Given the description of an element on the screen output the (x, y) to click on. 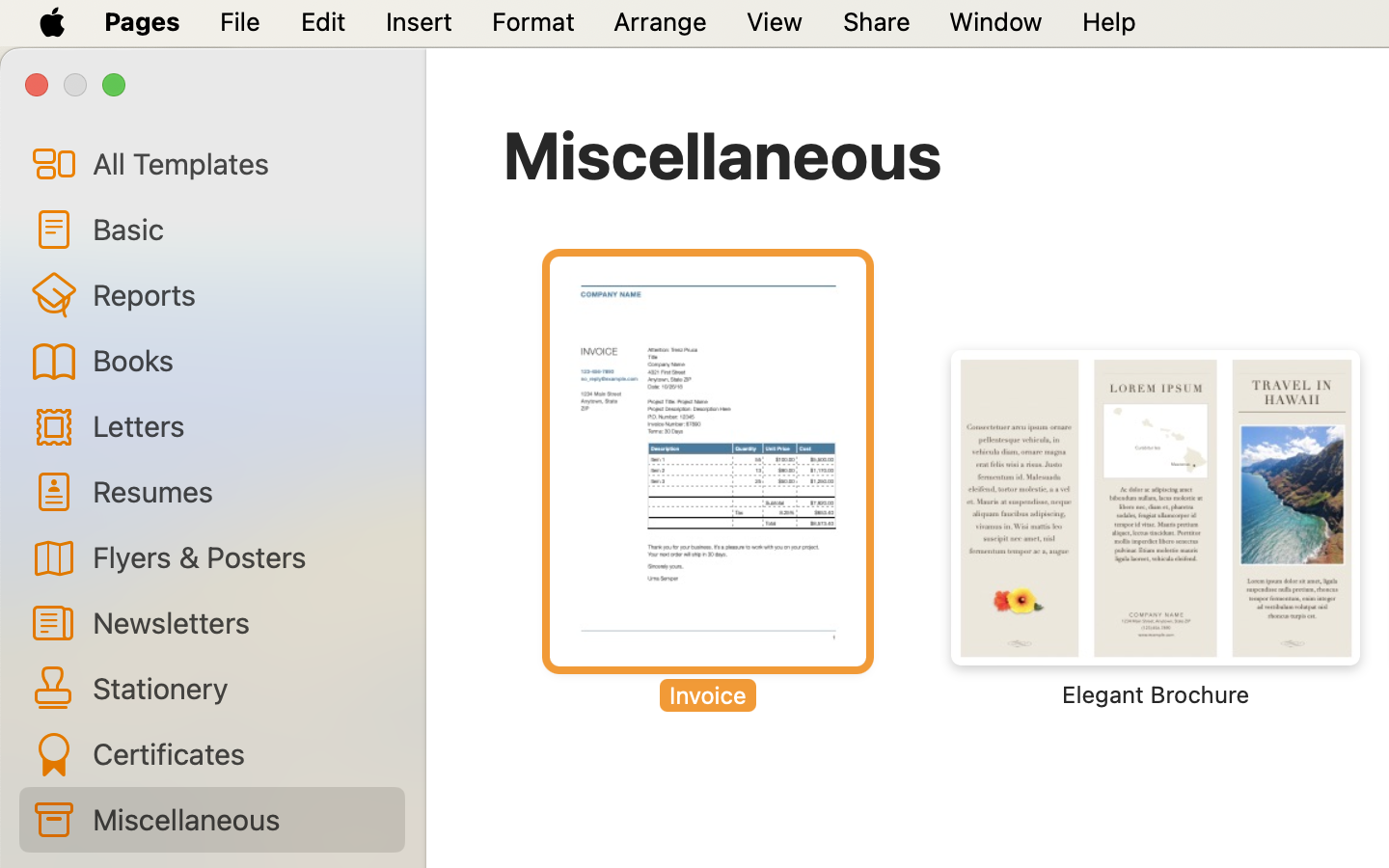
Newsletters Element type: AXStaticText (240, 621)
Basic Element type: AXStaticText (240, 228)
Letters Element type: AXStaticText (240, 424)
